Given the description of an element on the screen output the (x, y) to click on. 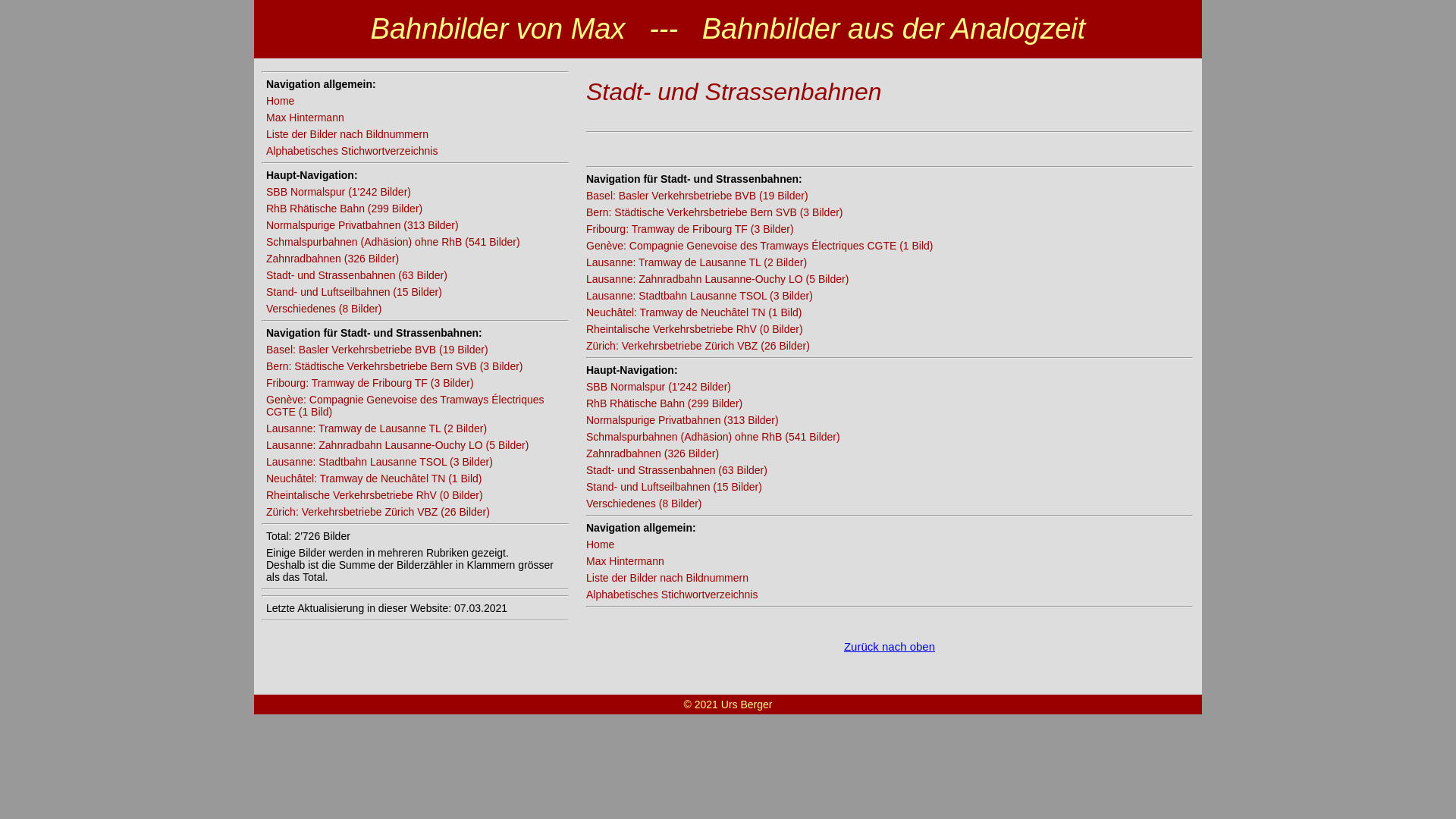
Stadt- und Strassenbahnen Element type: text (733, 91)
Max Hintermann Element type: text (305, 117)
Fribourg: Tramway de Fribourg TF (3 Bilder) Element type: text (369, 382)
Stadt- und Strassenbahnen (63 Bilder) Element type: text (356, 275)
Liste der Bilder nach Bildnummern Element type: text (347, 134)
Lausanne: Stadtbahn Lausanne TSOL (3 Bilder) Element type: text (699, 295)
Stand- und Luftseilbahnen (15 Bilder) Element type: text (674, 486)
Verschiedenes (8 Bilder) Element type: text (324, 308)
Home Element type: text (600, 544)
Lausanne: Zahnradbahn Lausanne-Ouchy LO (5 Bilder) Element type: text (717, 279)
Verschiedenes (8 Bilder) Element type: text (644, 503)
Liste der Bilder nach Bildnummern Element type: text (667, 577)
Normalspurige Privatbahnen (313 Bilder) Element type: text (682, 420)
Rheintalische Verkehrsbetriebe RhV (0 Bilder) Element type: text (694, 329)
Basel: Basler Verkehrsbetriebe BVB (19 Bilder) Element type: text (697, 195)
Fribourg: Tramway de Fribourg TF (3 Bilder) Element type: text (689, 228)
Lausanne: Zahnradbahn Lausanne-Ouchy LO (5 Bilder) Element type: text (397, 445)
Basel: Basler Verkehrsbetriebe BVB (19 Bilder) Element type: text (377, 349)
SBB Normalspur (1'242 Bilder) Element type: text (658, 386)
Stadt- und Strassenbahnen (63 Bilder) Element type: text (676, 470)
Max Hintermann Element type: text (625, 561)
Zahnradbahnen (326 Bilder) Element type: text (332, 258)
Alphabetisches Stichwortverzeichnis Element type: text (671, 594)
Lausanne: Tramway de Lausanne TL (2 Bilder) Element type: text (696, 262)
SBB Normalspur (1'242 Bilder) Element type: text (338, 191)
Home Element type: text (280, 100)
Lausanne: Tramway de Lausanne TL (2 Bilder) Element type: text (376, 428)
Rheintalische Verkehrsbetriebe RhV (0 Bilder) Element type: text (374, 495)
Lausanne: Stadtbahn Lausanne TSOL (3 Bilder) Element type: text (379, 461)
Stand- und Luftseilbahnen (15 Bilder) Element type: text (354, 291)
Normalspurige Privatbahnen (313 Bilder) Element type: text (362, 225)
Alphabetisches Stichwortverzeichnis Element type: text (351, 150)
Zahnradbahnen (326 Bilder) Element type: text (652, 453)
